Given the description of an element on the screen output the (x, y) to click on. 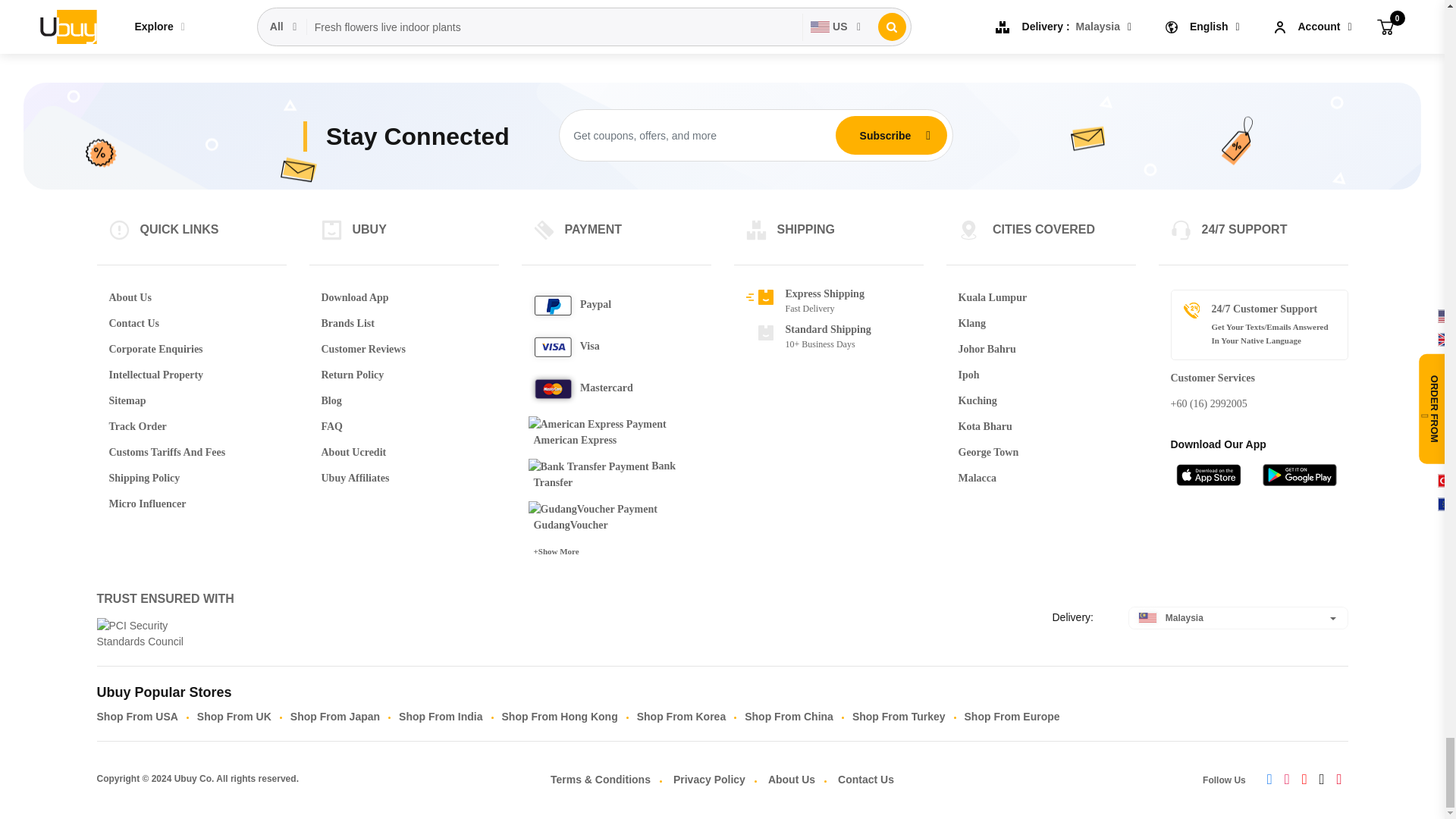
Subscribe (885, 134)
